Given the description of an element on the screen output the (x, y) to click on. 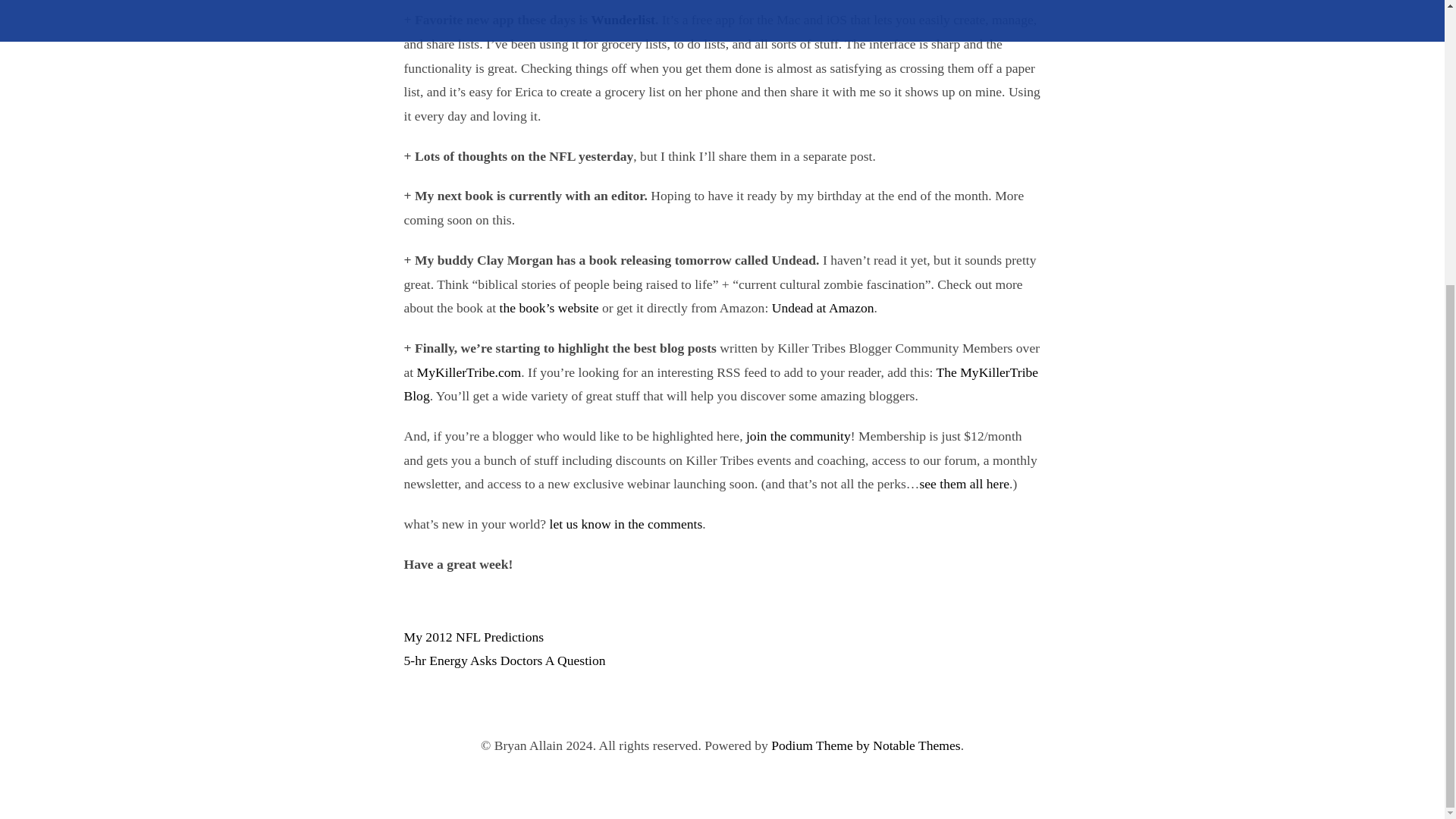
Podium Theme by Notable Themes (865, 744)
MyKillerTribe.com (468, 372)
My 2012 NFL Predictions (473, 636)
5-hr Energy Asks Doctors A Question (504, 660)
Wunderlist (623, 19)
let us know in the comments (626, 523)
Undead at Amazon (823, 307)
see them all here (963, 483)
The MyKillerTribe Blog (720, 384)
join the community (797, 435)
